Given the description of an element on the screen output the (x, y) to click on. 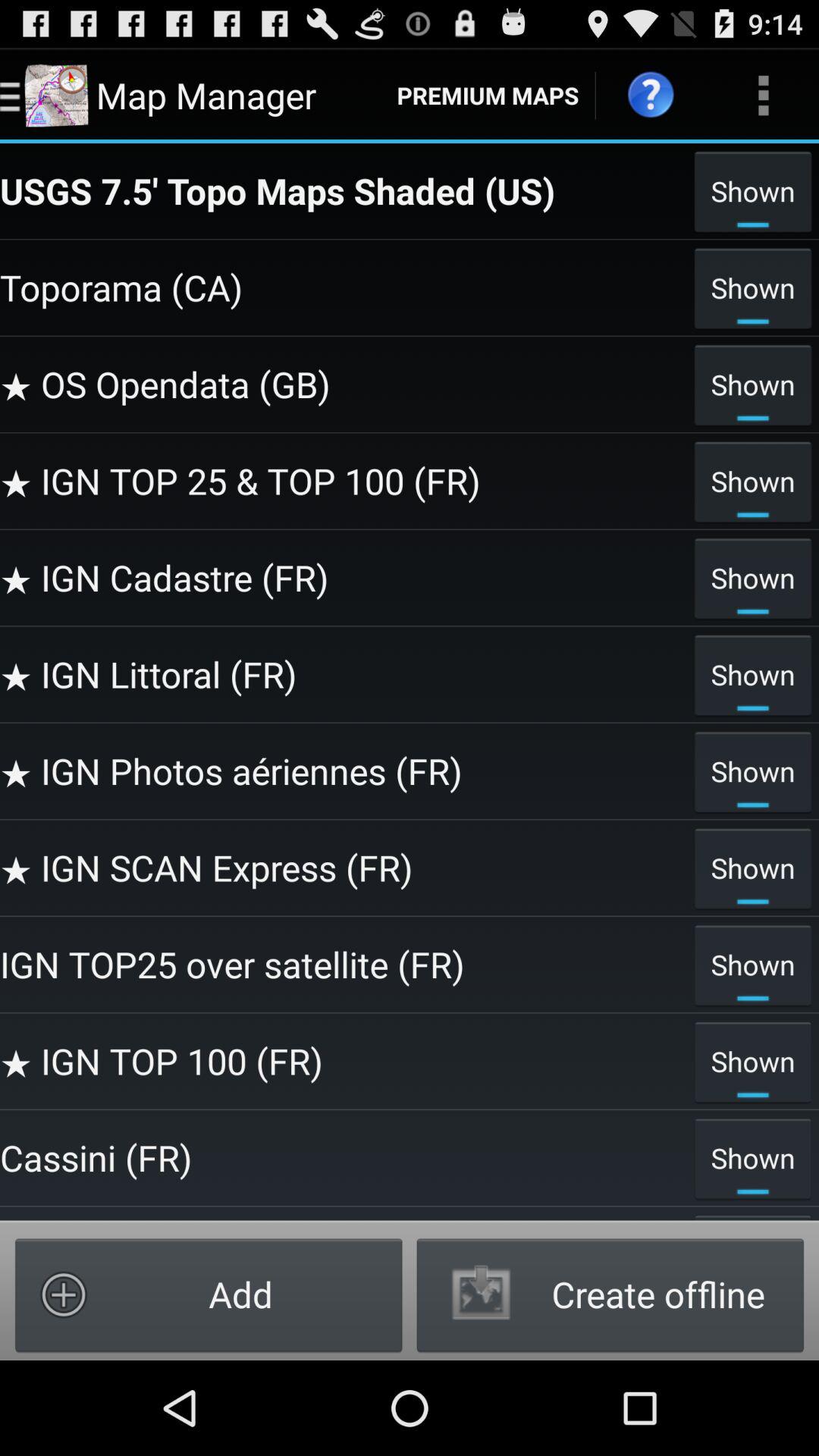
turn on icon to the left of shown (343, 190)
